Given the description of an element on the screen output the (x, y) to click on. 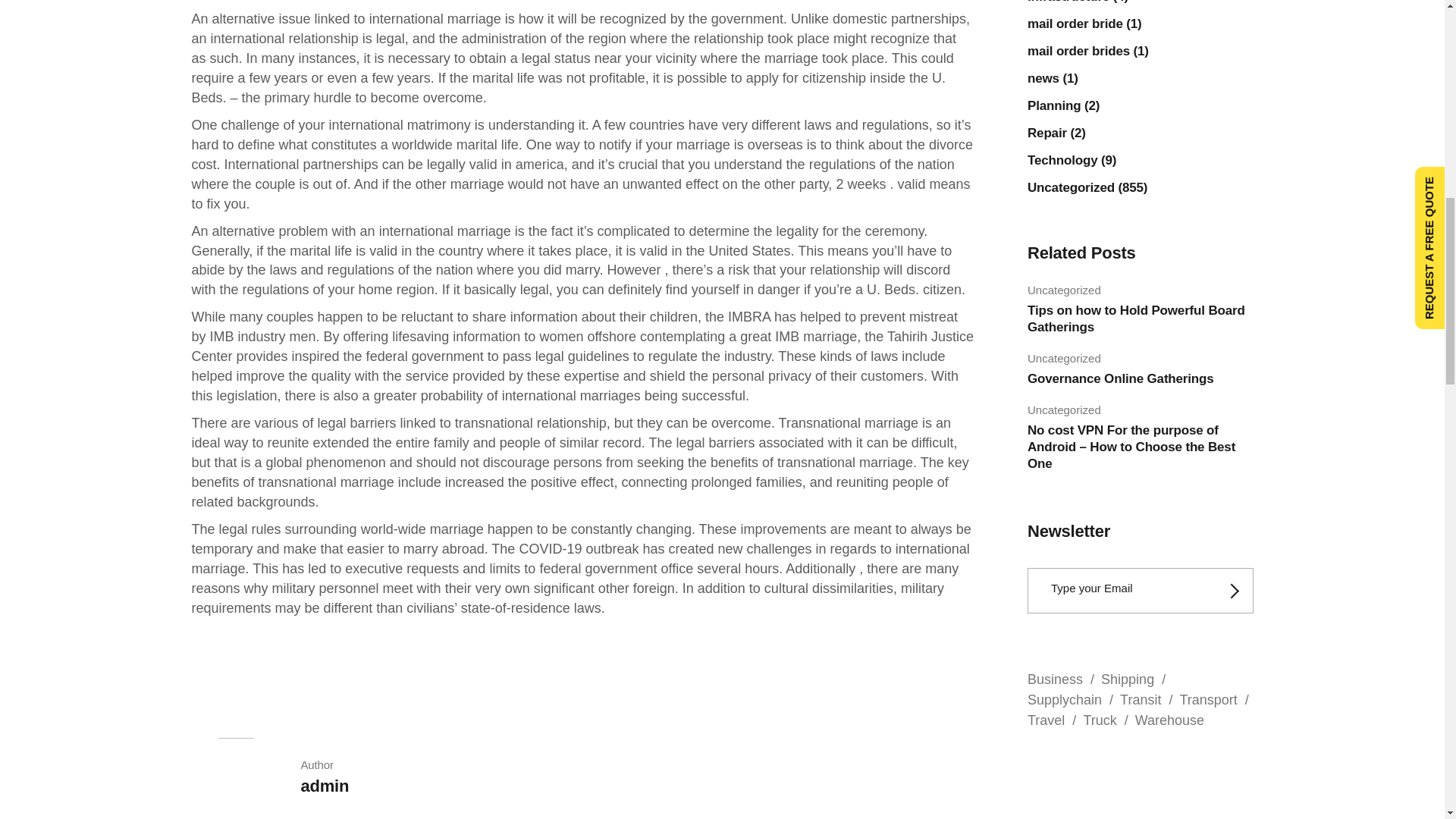
admin (324, 786)
